Given the description of an element on the screen output the (x, y) to click on. 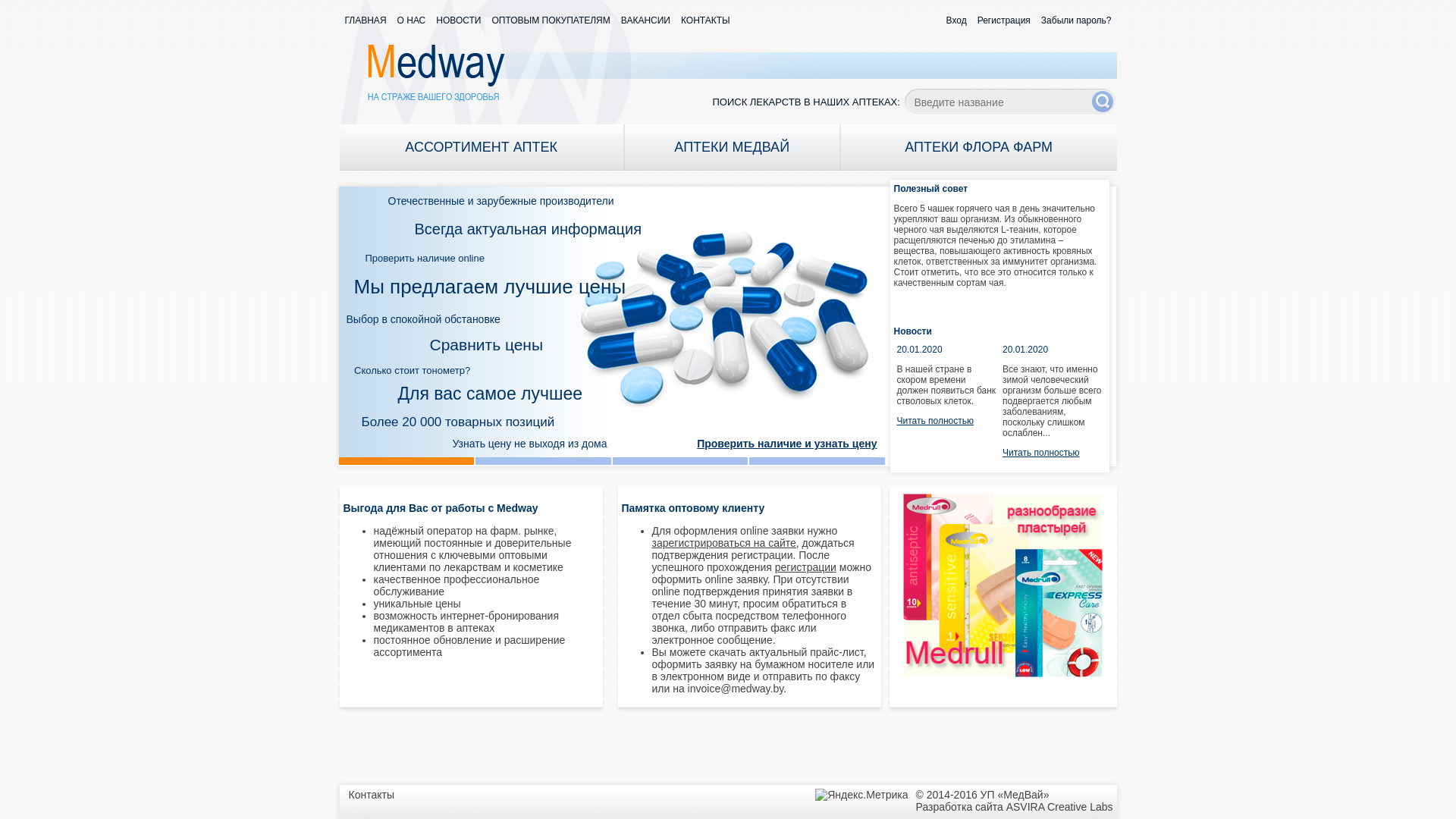
ASVIRA Creative Labs Element type: text (1059, 806)
